Given the description of an element on the screen output the (x, y) to click on. 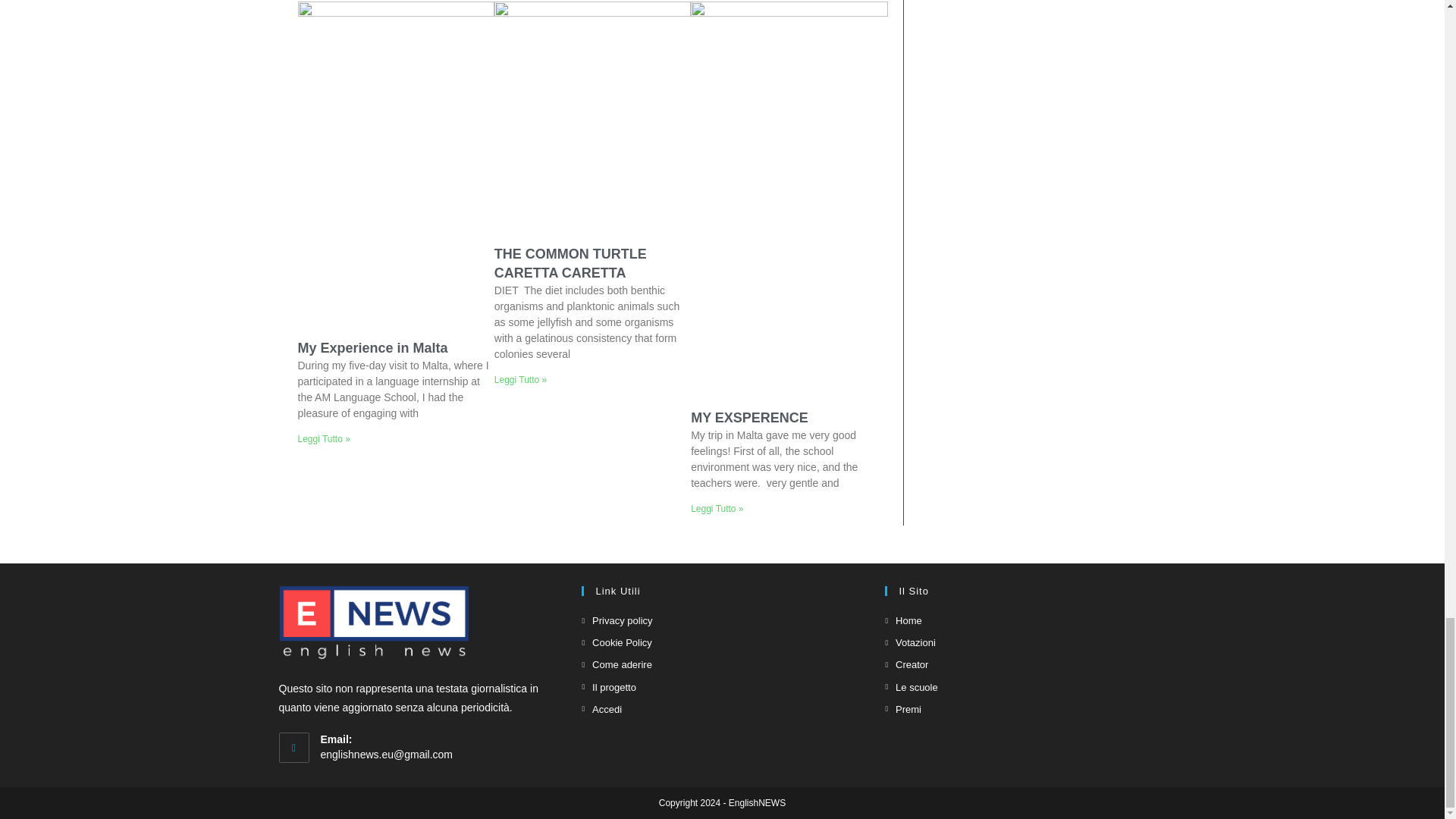
My Experience in Malta (371, 347)
MY EXSPERENCE (749, 417)
THE COMMON TURTLE CARETTA CARETTA (570, 263)
